Given the description of an element on the screen output the (x, y) to click on. 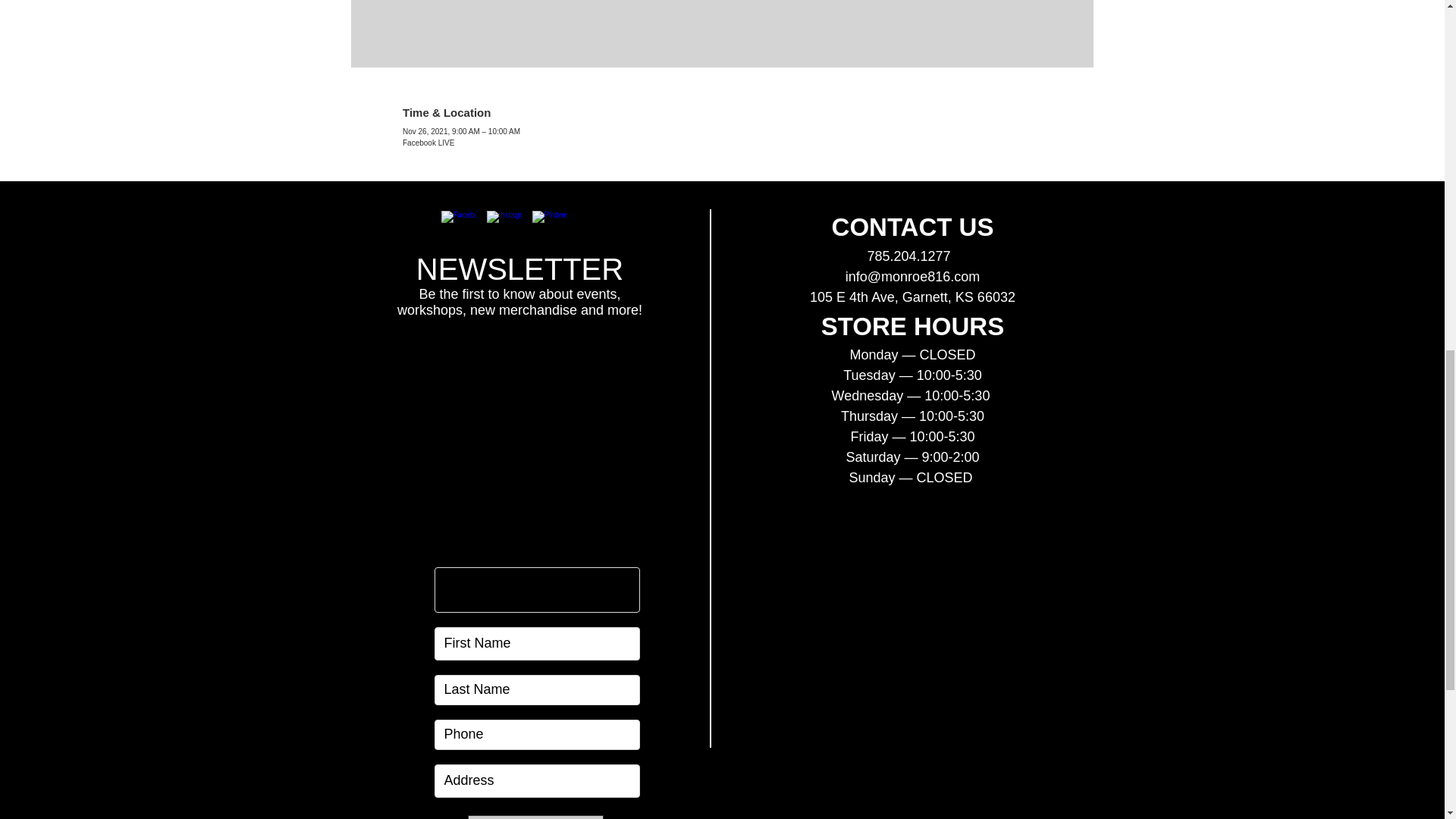
Submit (534, 816)
